Given the description of an element on the screen output the (x, y) to click on. 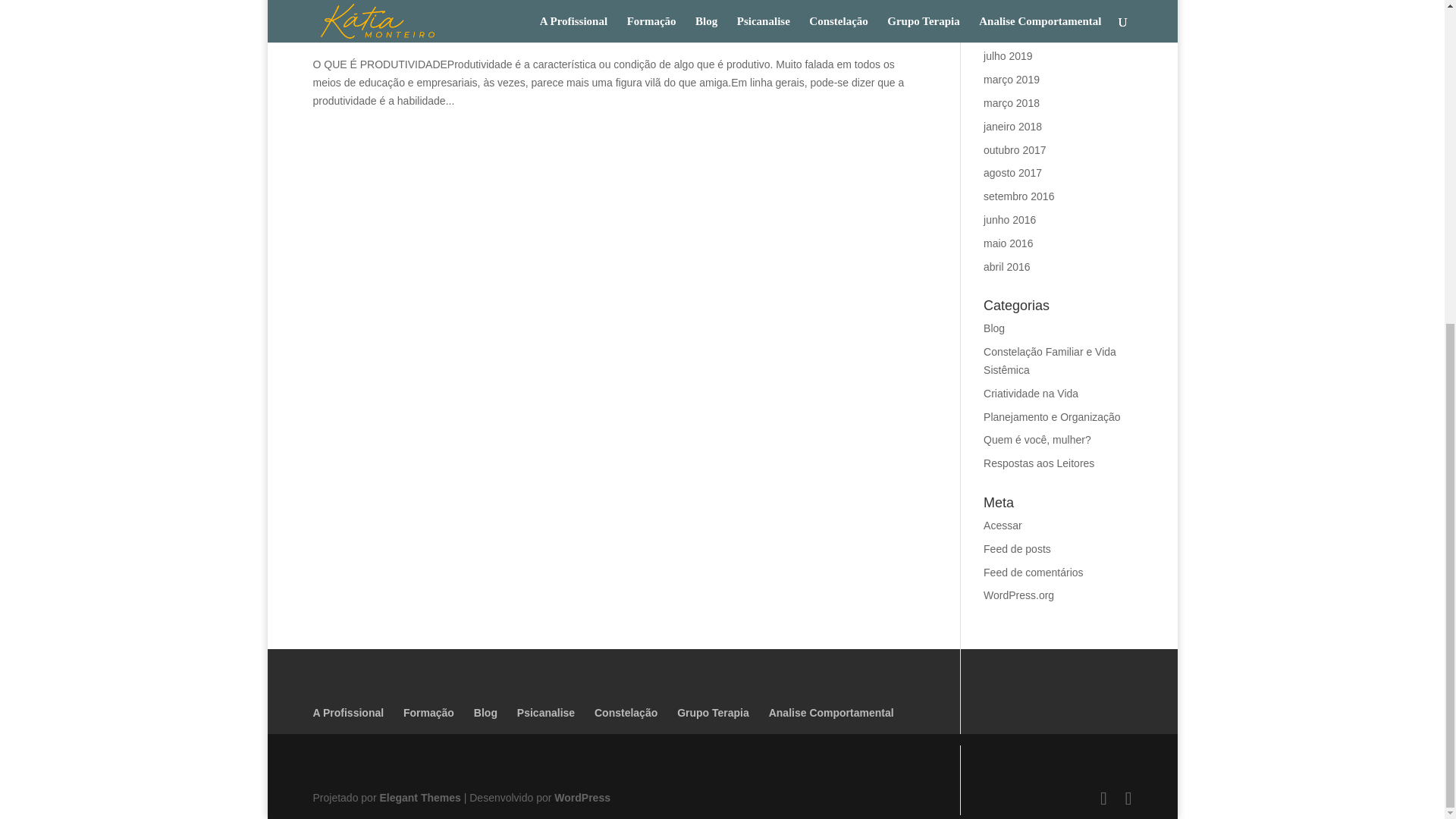
abril 2016 (1007, 266)
setembro 2016 (1019, 196)
Respostas aos Leitores (1039, 463)
julho 2019 (1008, 55)
janeiro 2018 (1013, 126)
janeiro 2021 (1013, 33)
Acessar (1003, 525)
Blog (994, 328)
Criatividade na Vida (1031, 393)
junho 2016 (1009, 219)
